Given the description of an element on the screen output the (x, y) to click on. 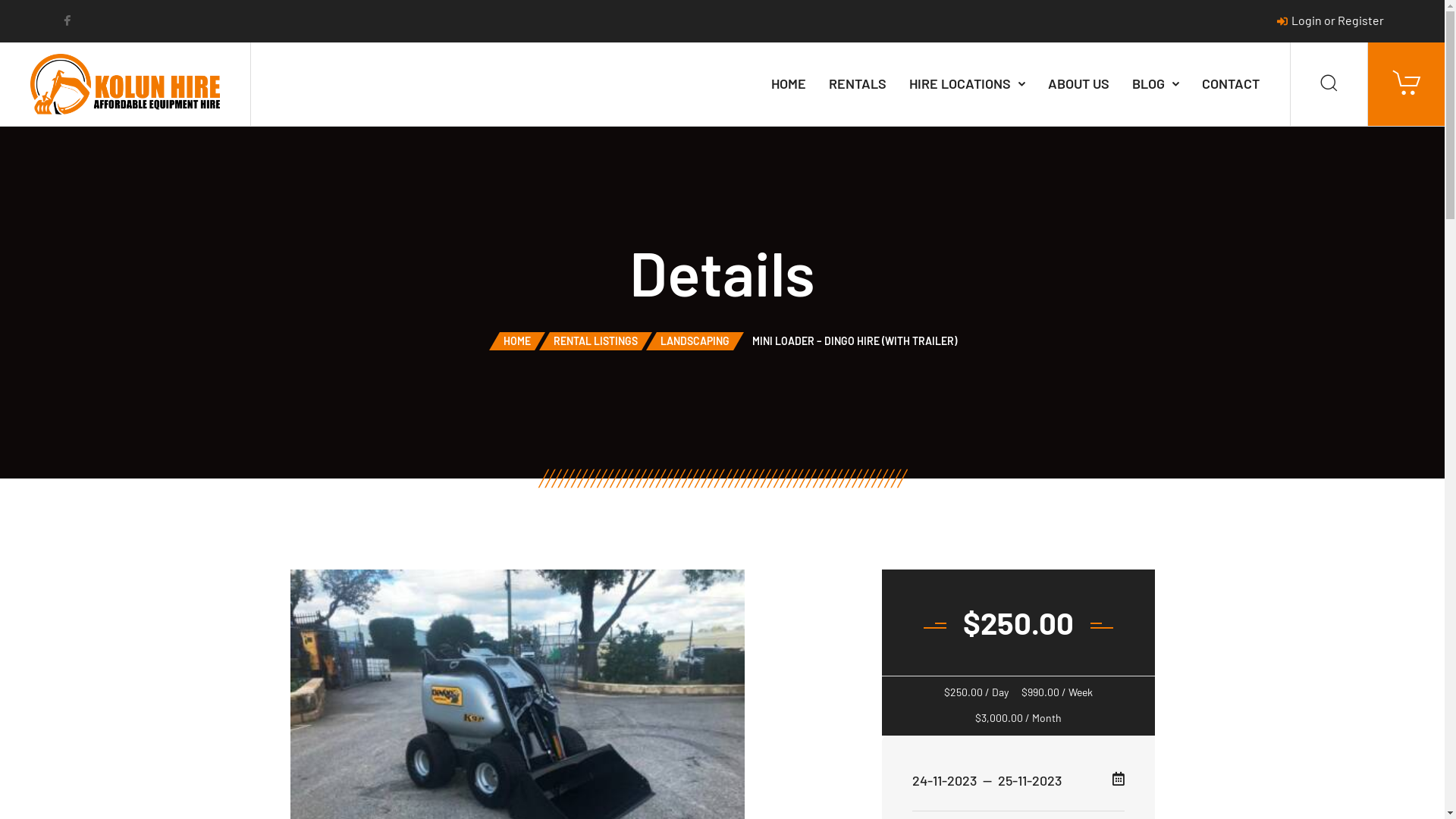
LANDSCAPING Element type: text (693, 340)
RENTALS Element type: text (857, 83)
ABOUT US Element type: text (1078, 83)
HIRE LOCATIONS Element type: text (967, 83)
HOME Element type: text (788, 83)
Login or Register Element type: text (1330, 19)
CONTACT Element type: text (1230, 83)
BLOG Element type: text (1155, 83)
RENTAL LISTINGS Element type: text (595, 340)
HOME Element type: text (516, 340)
